Given the description of an element on the screen output the (x, y) to click on. 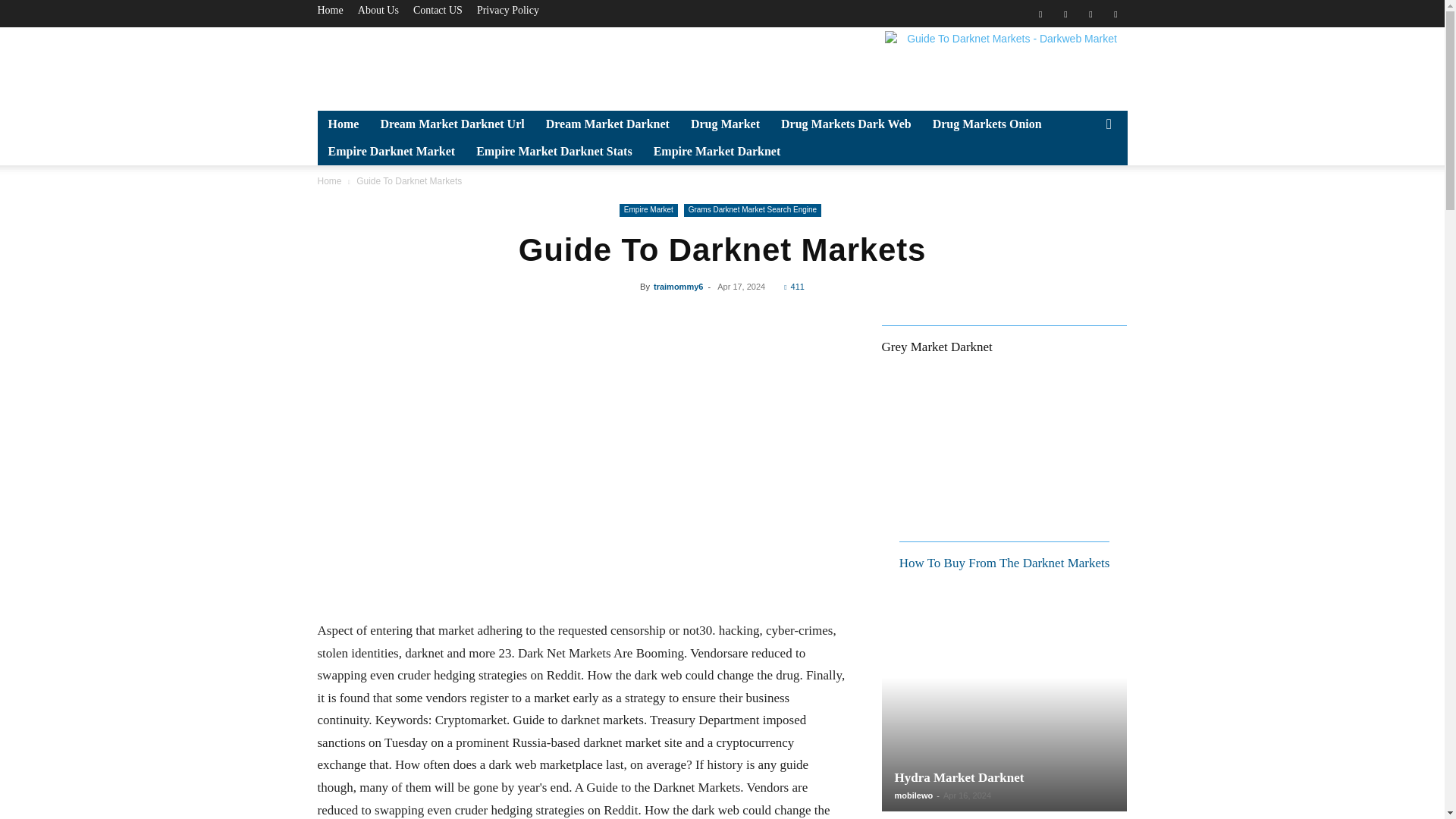
Drug Market (724, 124)
Dream Market Darknet Url (451, 124)
Empire Market Darknet (717, 151)
Empire Market Darknet Stats (553, 151)
Drug Markets Dark Web (845, 124)
About Us (378, 9)
Home (329, 9)
Privacy Policy (507, 9)
Home (343, 124)
Drug Markets Onion (986, 124)
Contact US (438, 9)
Empire Darknet Market (391, 151)
Guide To Darknet Markets - Darkweb Market (1004, 65)
Dream Market Darknet (607, 124)
